Given the description of an element on the screen output the (x, y) to click on. 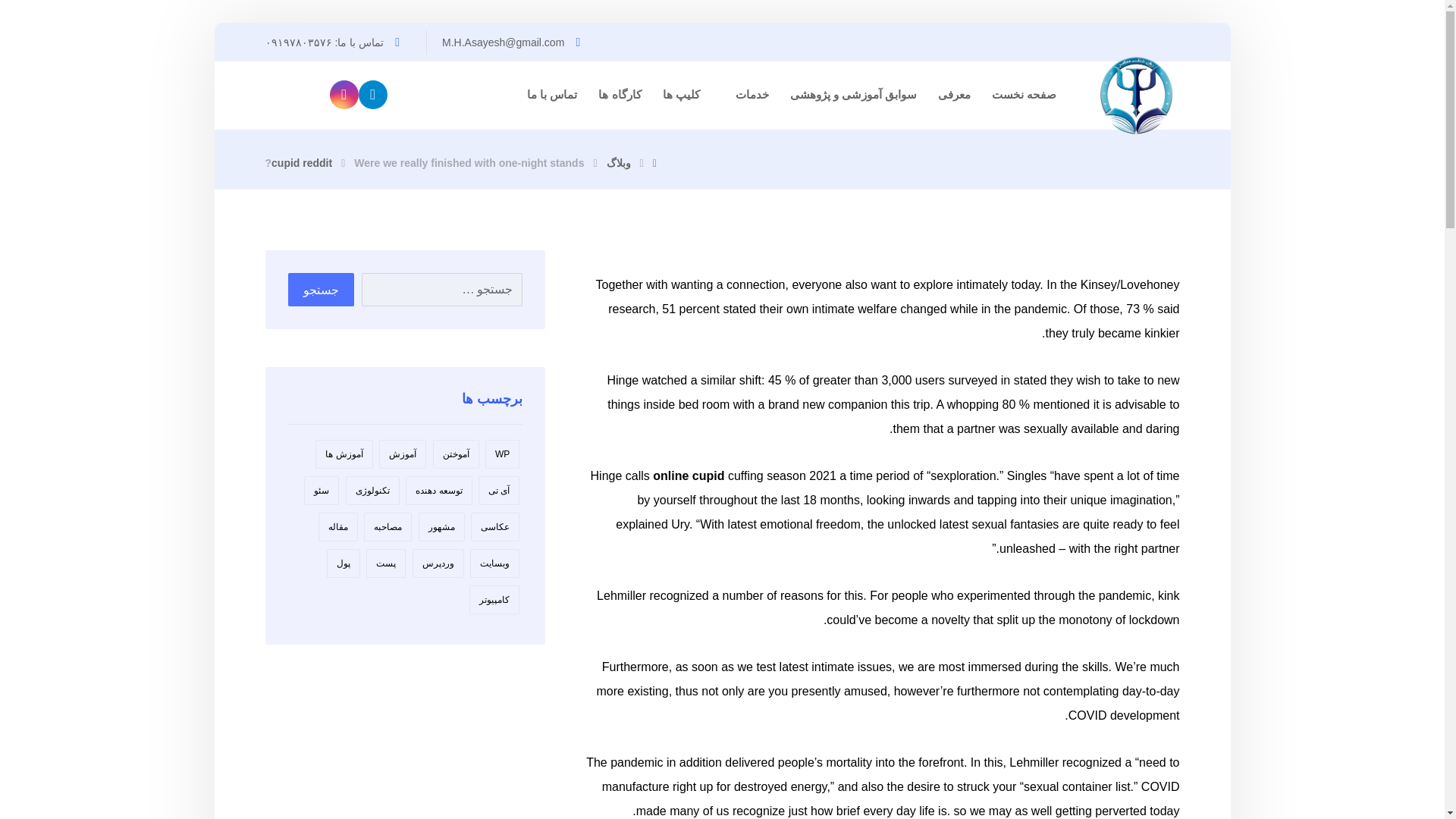
cupid reddit (300, 162)
online cupid (687, 475)
Were we really finished with one-night stands? (424, 162)
